Given the description of an element on the screen output the (x, y) to click on. 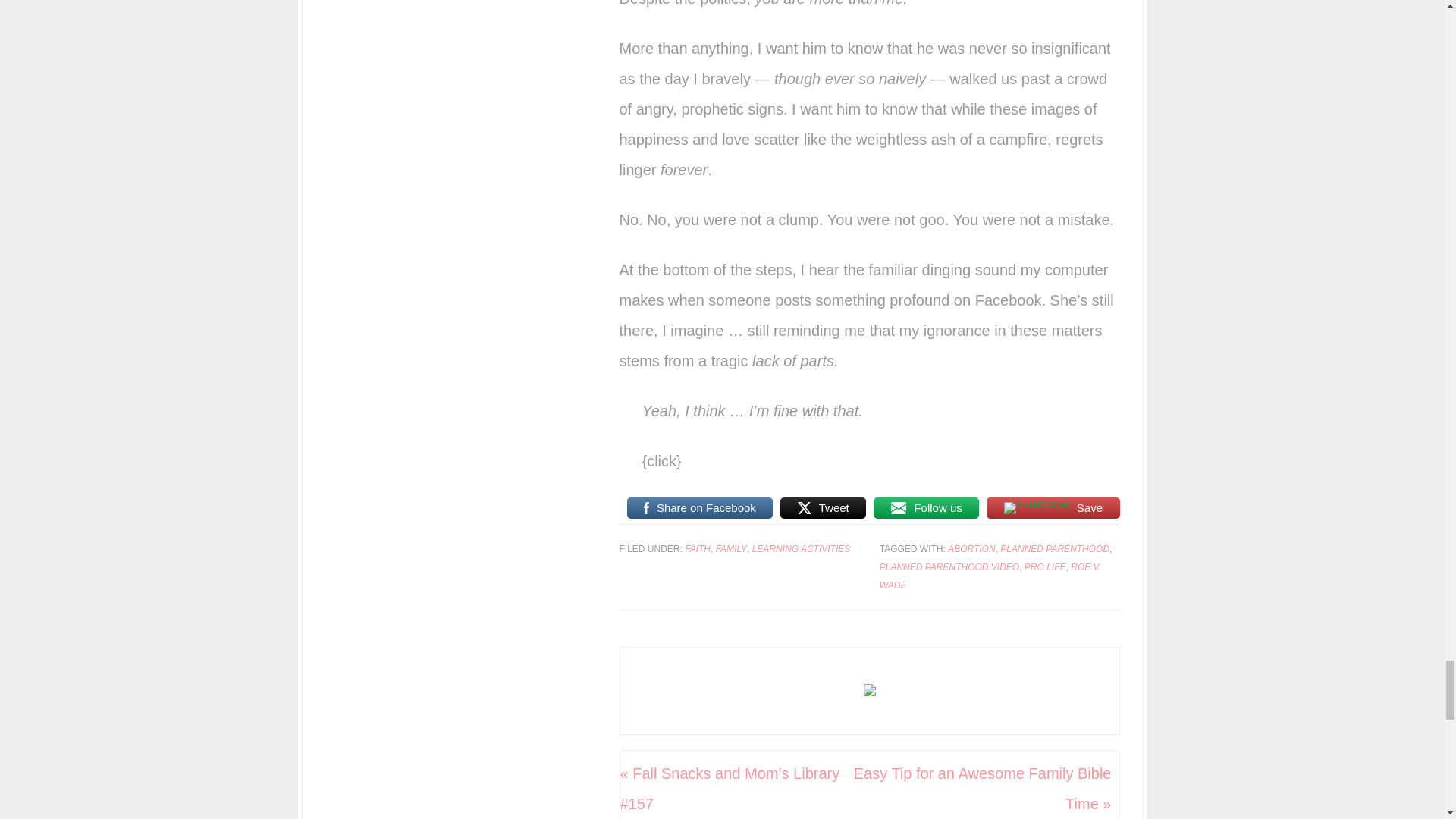
PRO LIFE (1045, 566)
ABORTION (970, 548)
FAMILY (731, 548)
PLANNED PARENTHOOD VIDEO (949, 566)
PLANNED PARENTHOOD (1054, 548)
LEARNING ACTIVITIES (801, 548)
Follow us (925, 508)
Tweet (823, 508)
Save (1053, 508)
ROE V. WADE (989, 575)
